Given the description of an element on the screen output the (x, y) to click on. 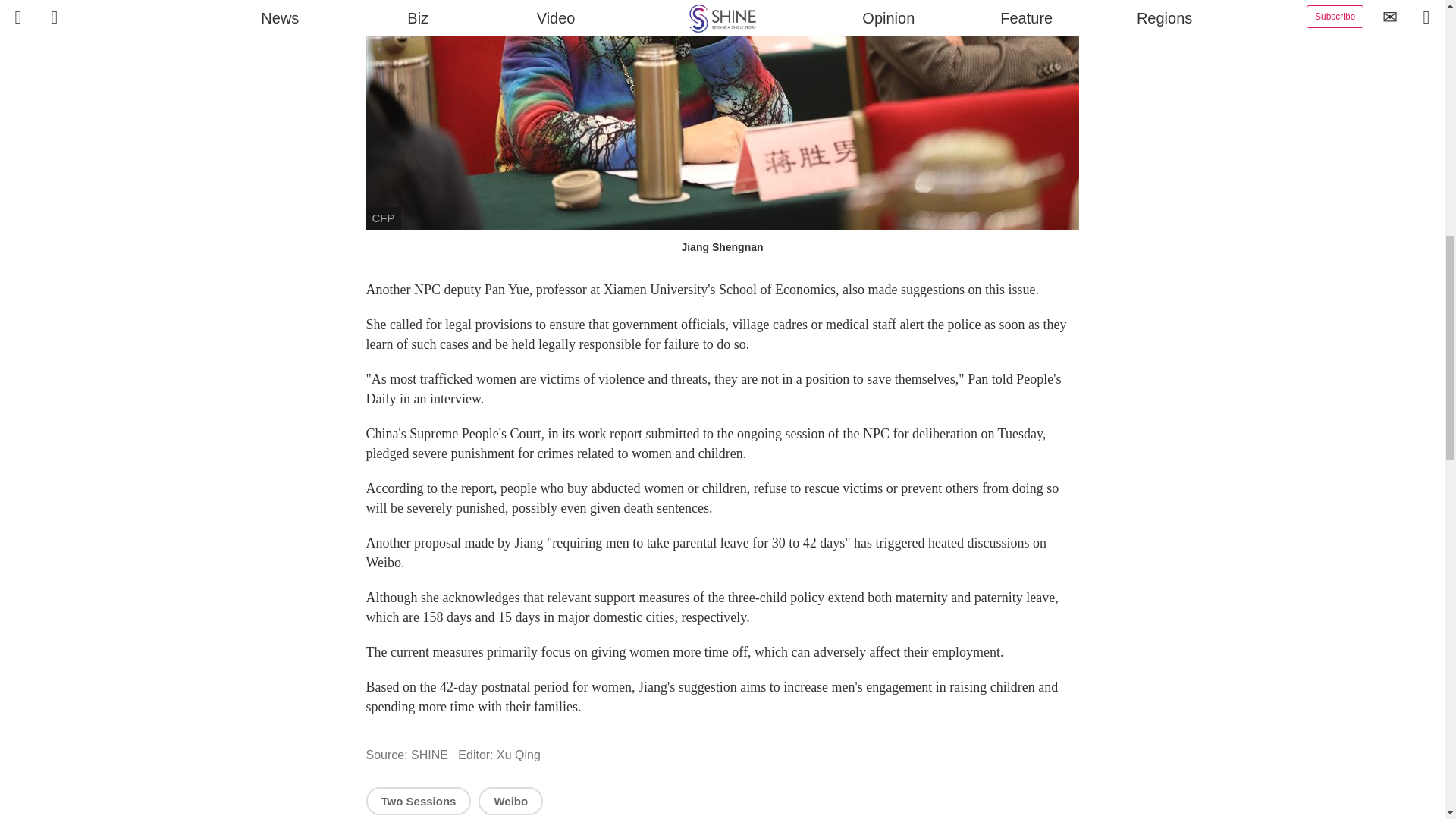
Two Sessions (417, 800)
Weibo (511, 800)
